Given the description of an element on the screen output the (x, y) to click on. 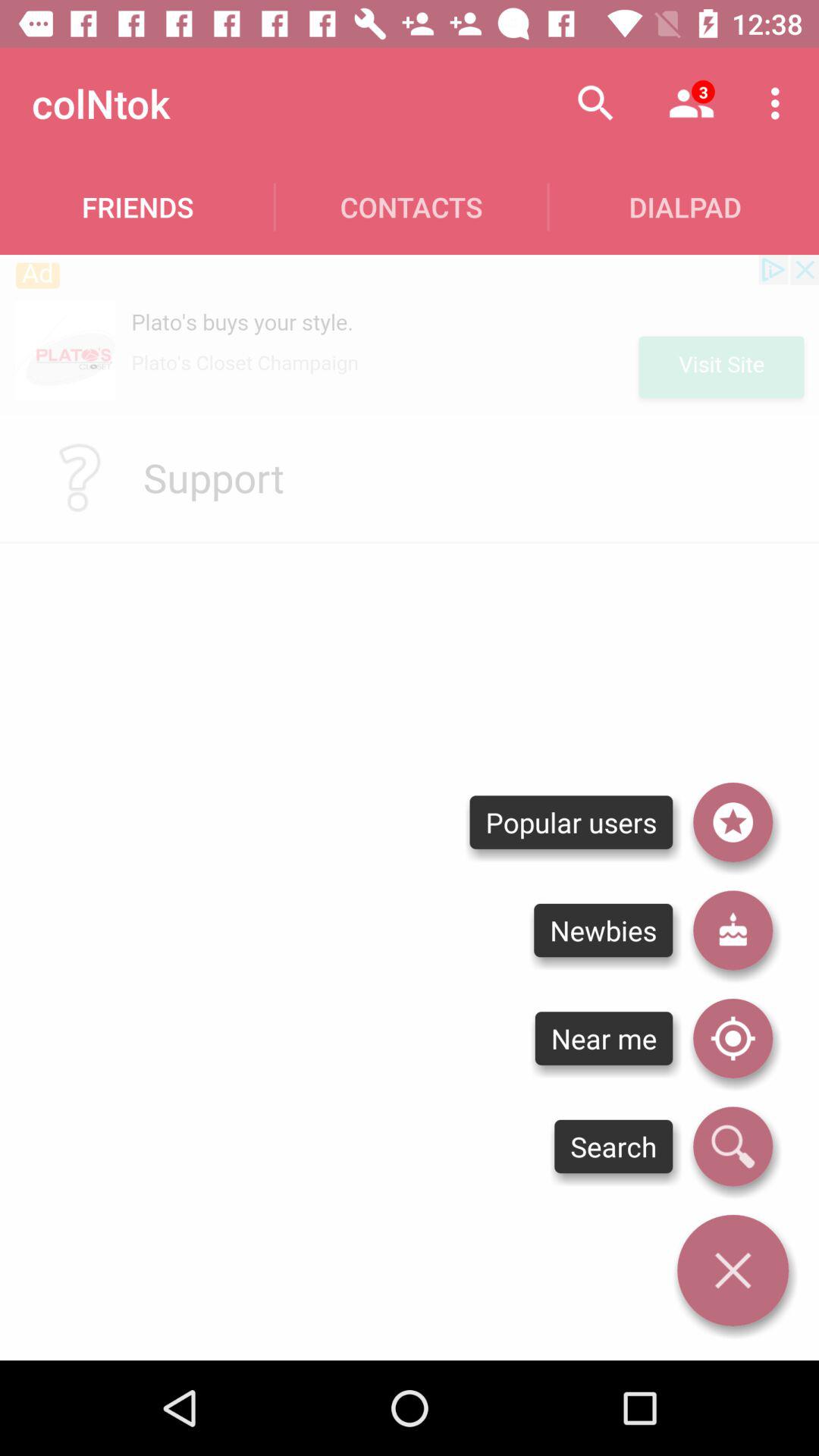
search (733, 1146)
